Given the description of an element on the screen output the (x, y) to click on. 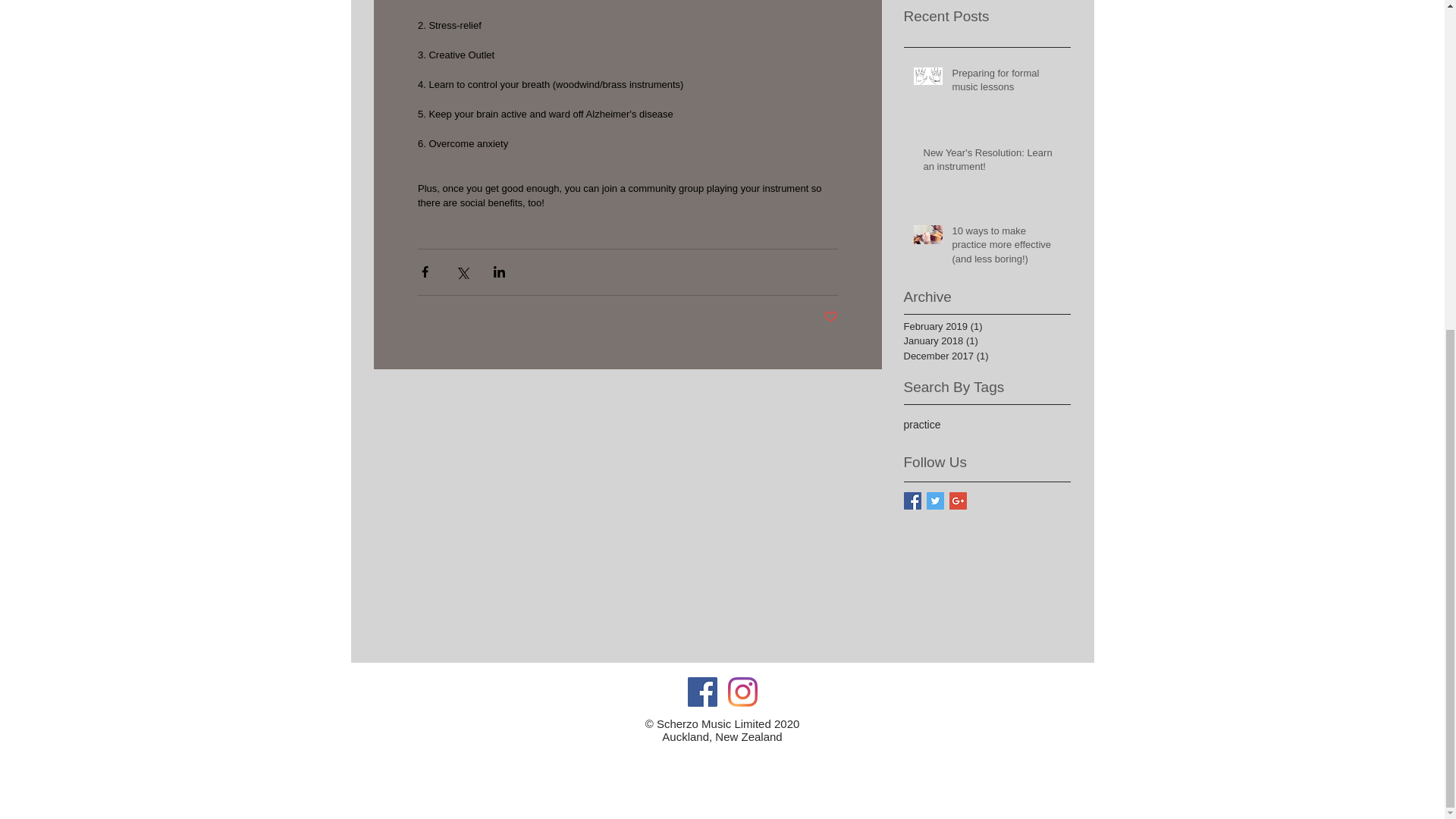
Post not marked as liked (831, 317)
Preparing for formal music lessons (1006, 82)
practice (922, 424)
New Year's Resolution: Learn an instrument! (992, 162)
